Given the description of an element on the screen output the (x, y) to click on. 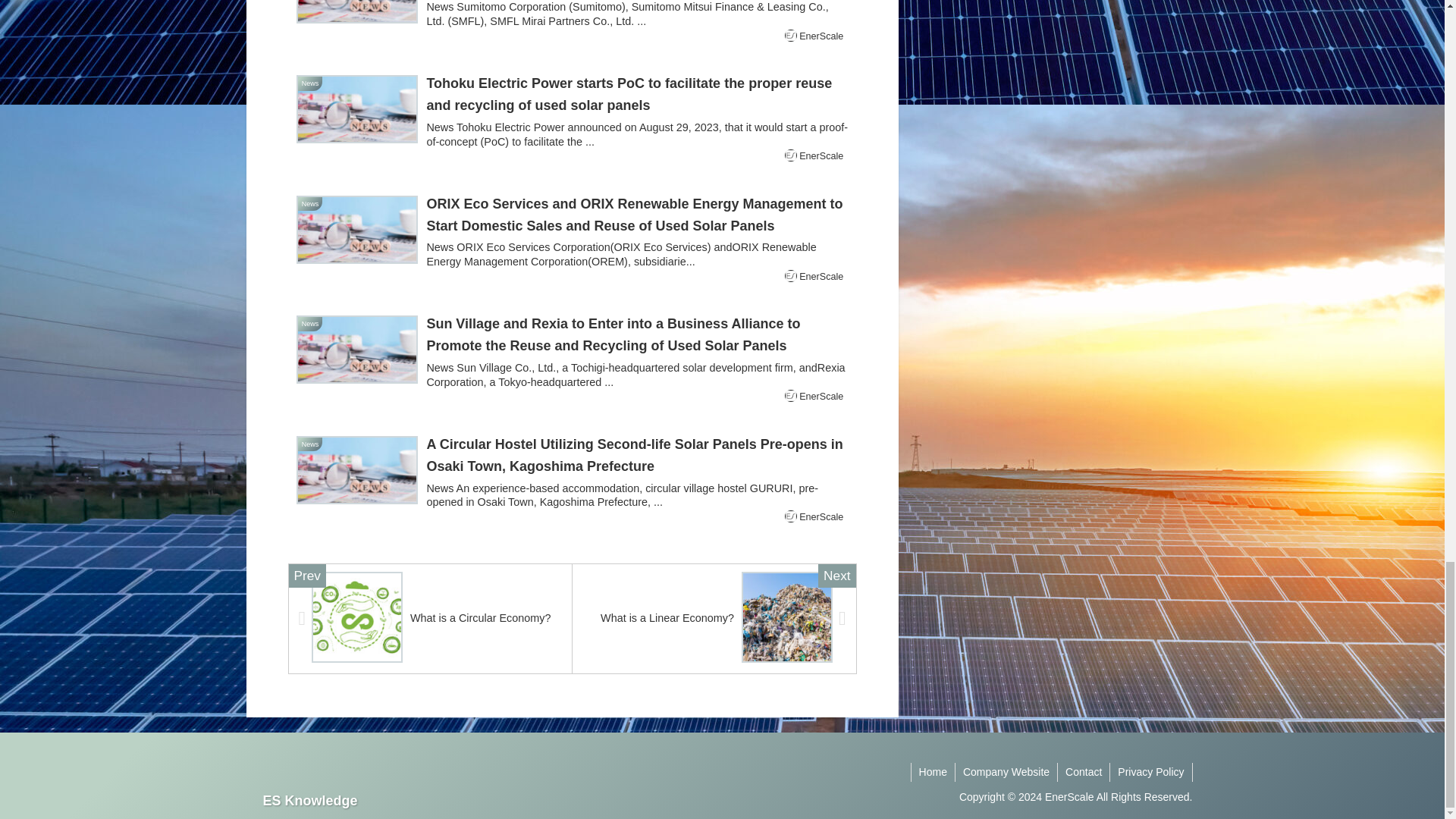
What is a Linear Economy? (714, 618)
What is a Circular Economy? (430, 618)
What is a Linear Economy? (714, 618)
What is a Circular Economy? (430, 618)
